Given the description of an element on the screen output the (x, y) to click on. 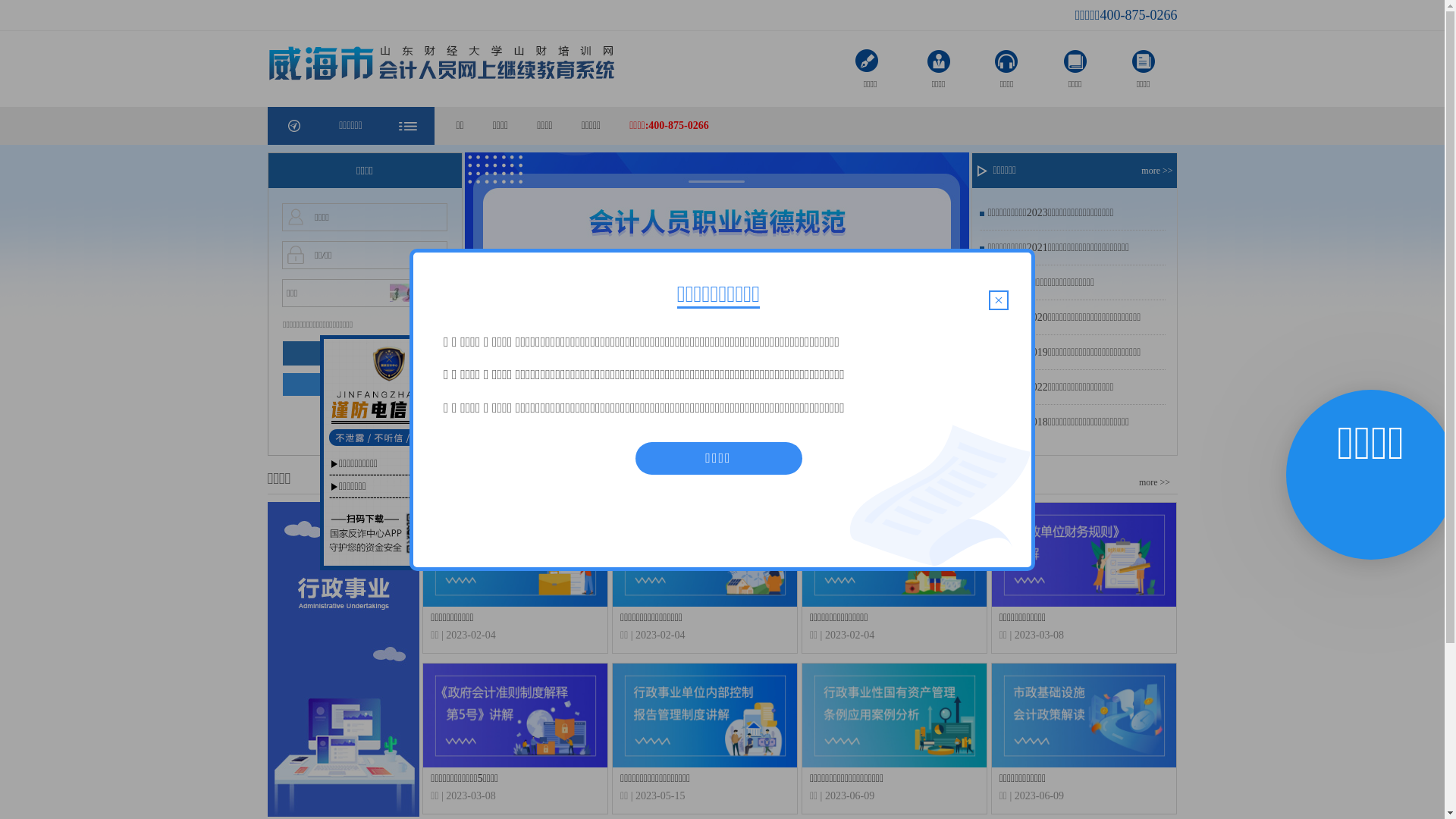
2 Element type: text (717, 438)
1 Element type: text (699, 438)
3 Element type: text (736, 438)
more >> Element type: text (1158, 170)
more >> Element type: text (1153, 482)
